Given the description of an element on the screen output the (x, y) to click on. 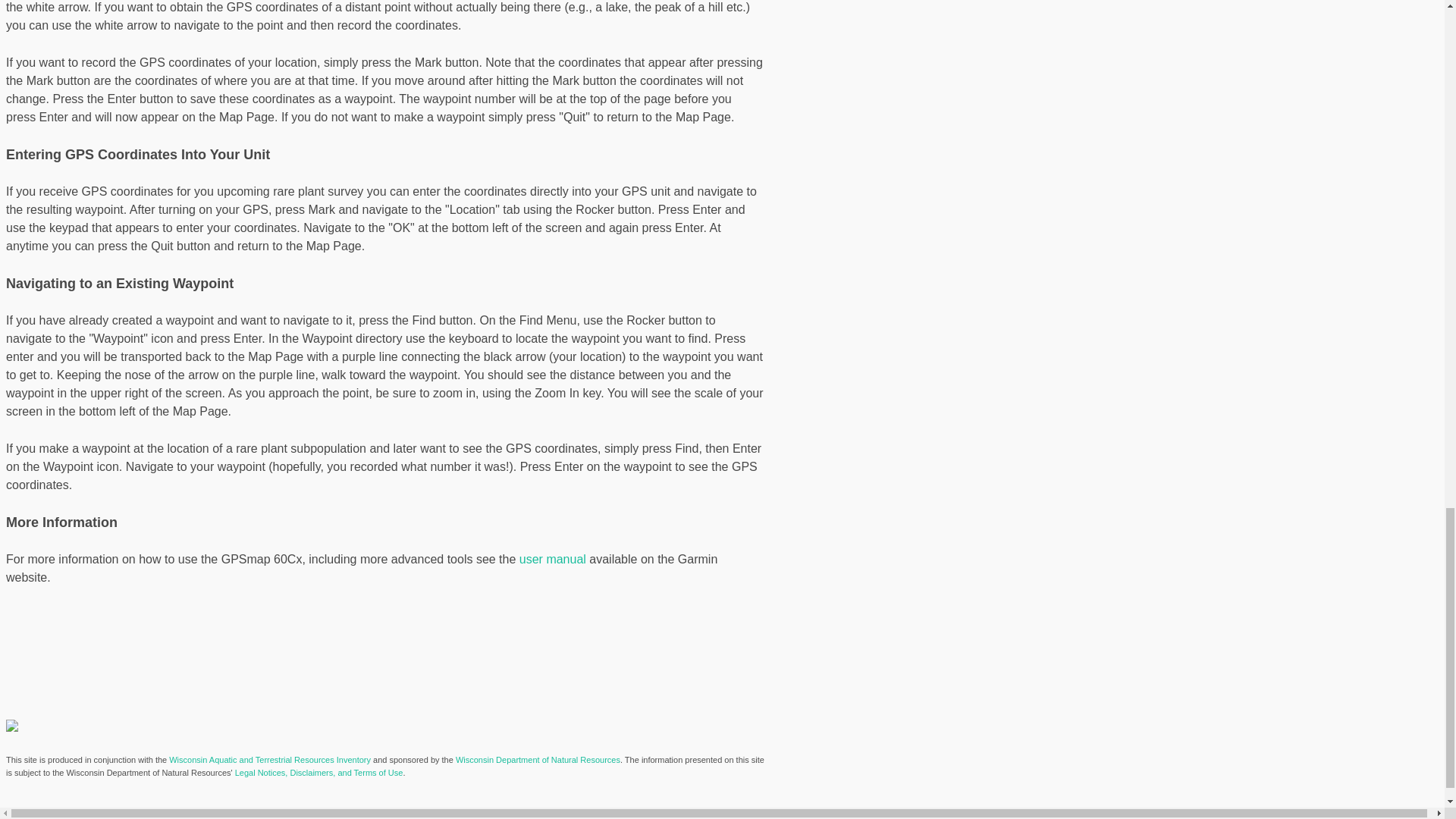
Wisconsin Aquatic and Terrestrial Resources Inventory (269, 759)
Wisconsin Department of Natural Resources (537, 759)
user manual (552, 558)
Legal Notices, Disclaimers, and Terms of Use (318, 772)
